Given the description of an element on the screen output the (x, y) to click on. 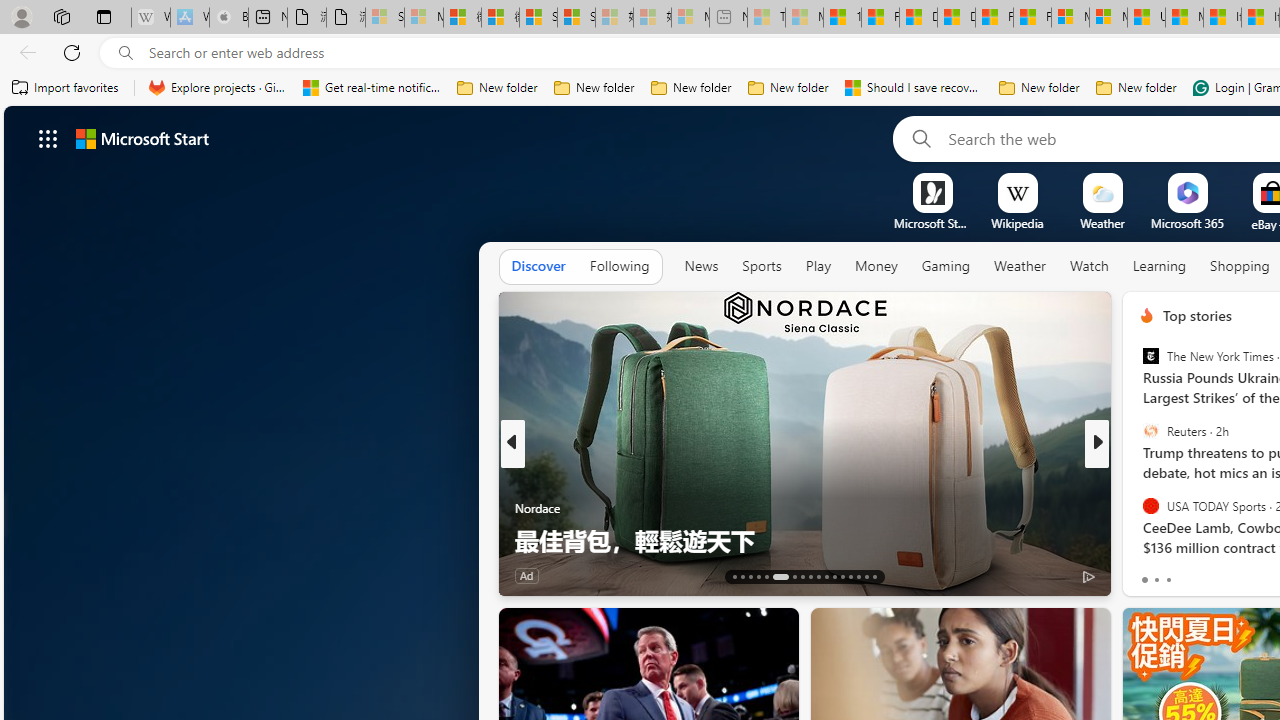
AutomationID: tab-19 (793, 576)
Microsoft start (142, 138)
View comments 7 Comment (1229, 575)
AutomationID: tab-23 (825, 576)
AutomationID: tab-33 (874, 576)
View comments 3 Comment (1234, 575)
Lifestyle Trends (1138, 507)
PsychLove (1138, 507)
113 Like (1151, 574)
